Given the description of an element on the screen output the (x, y) to click on. 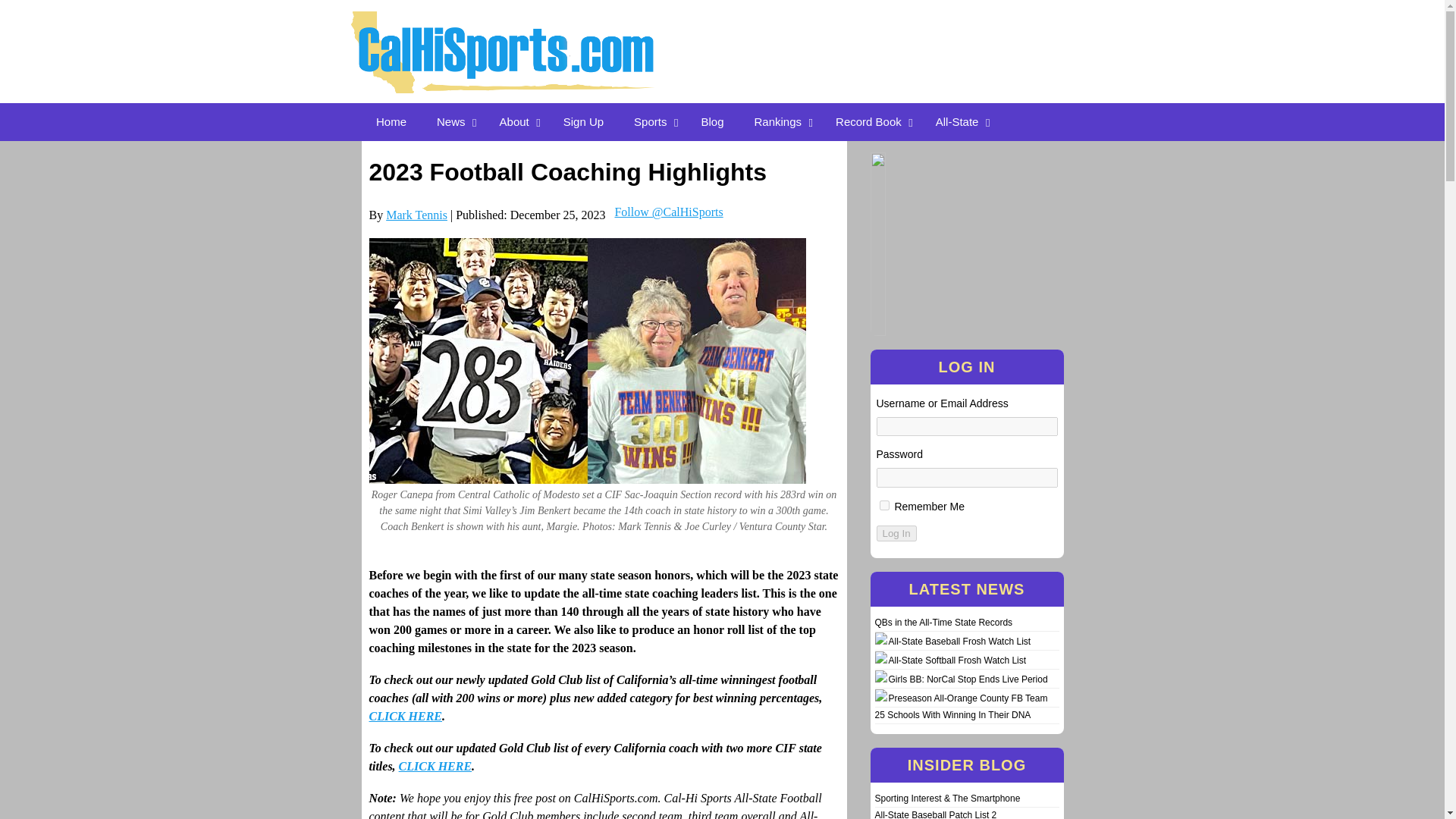
News (453, 121)
Permalink to Girls BB: NorCal Stop Ends Live Period (968, 679)
Permalink to QBs in the All-Time State Records (944, 622)
Permalink to All-State Softball Frosh Watch List (957, 660)
Permalink to All-State Baseball Frosh Watch List (959, 641)
Permalink to 25 Schools With Winning In Their DNA (952, 715)
Rankings (779, 121)
Permalink to All-State Baseball Patch List 2 (936, 814)
forever (884, 505)
About (516, 121)
Sports (651, 121)
Permalink to Preseason All-Orange County FB Team (968, 697)
Blog (711, 121)
View all posts by Mark Tennis (415, 214)
Record Book (870, 121)
